Given the description of an element on the screen output the (x, y) to click on. 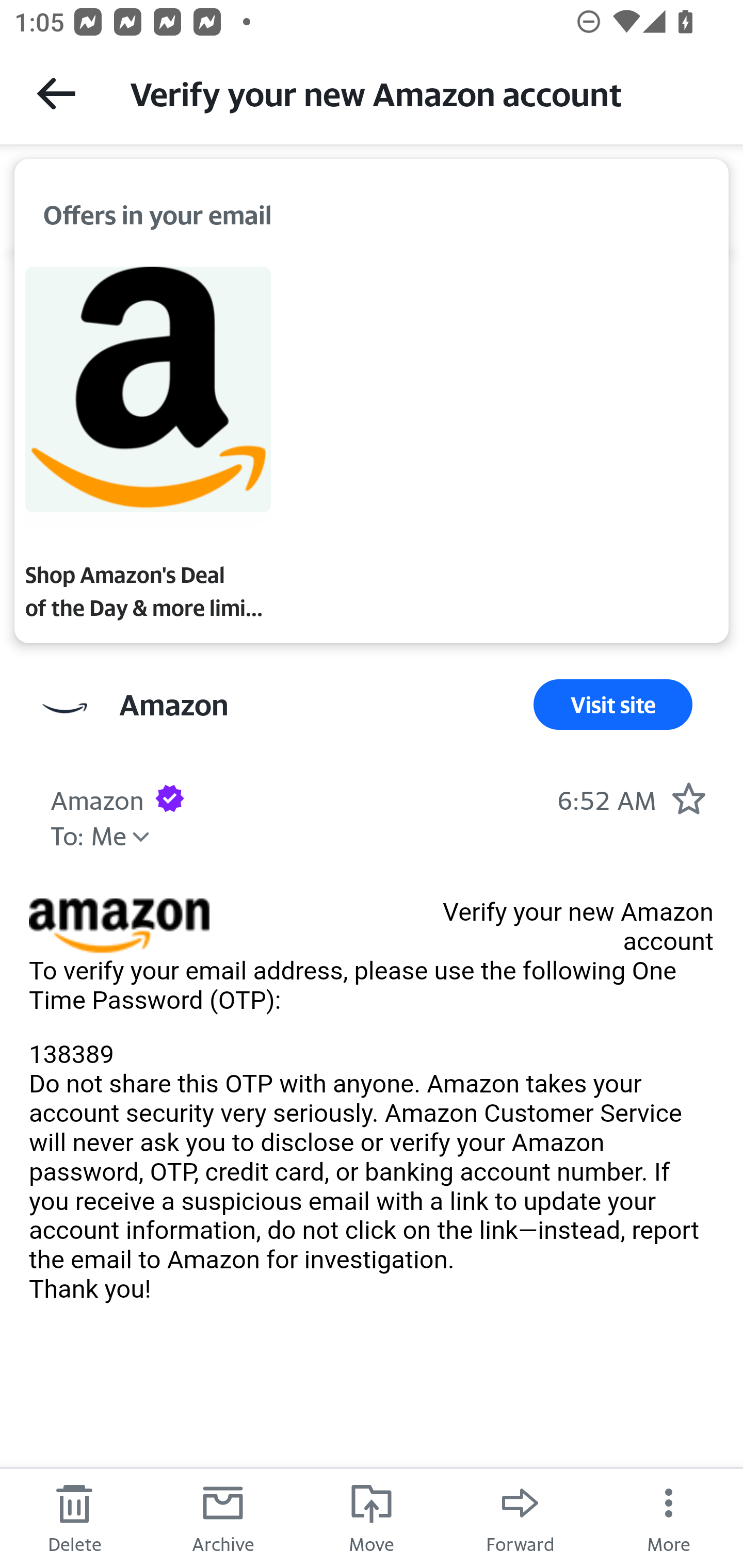
Back (55, 92)
View all messages from sender (64, 707)
Visit site Visit Site Link (612, 703)
Amazon Sender Amazon (173, 703)
Amazon Sender Amazon (97, 797)
Mark as starred. (688, 798)
Delete (74, 1517)
Archive (222, 1517)
Move (371, 1517)
Forward (519, 1517)
More (668, 1517)
